Given the description of an element on the screen output the (x, y) to click on. 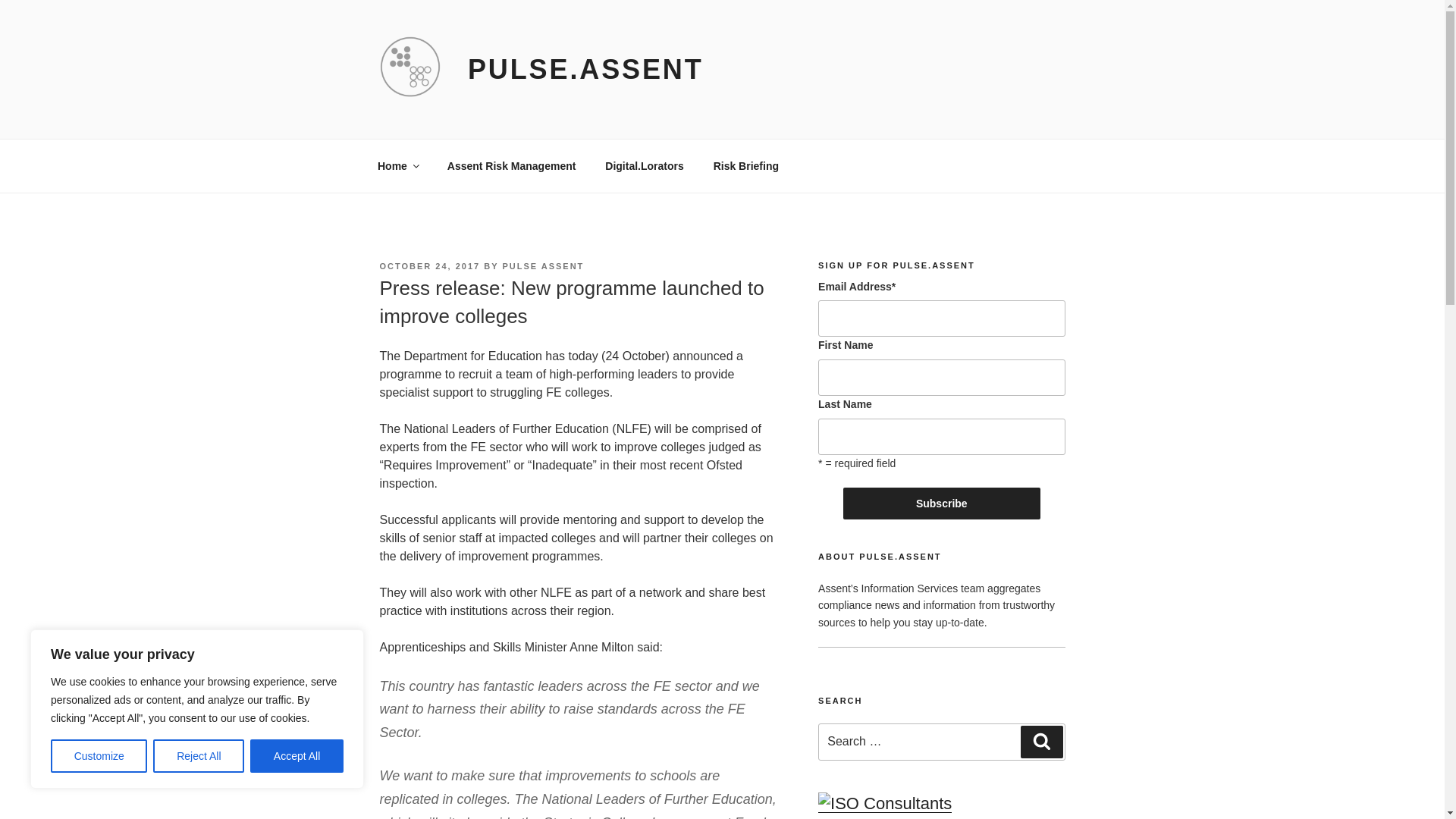
Assent Risk Management (511, 165)
Customize (98, 756)
Digital.Lorators (644, 165)
OCTOBER 24, 2017 (429, 266)
Accept All (296, 756)
Subscribe (942, 503)
Reject All (198, 756)
PULSE.ASSENT (585, 69)
Risk Briefing (746, 165)
Home (397, 165)
PULSE ASSENT (542, 266)
